Given the description of an element on the screen output the (x, y) to click on. 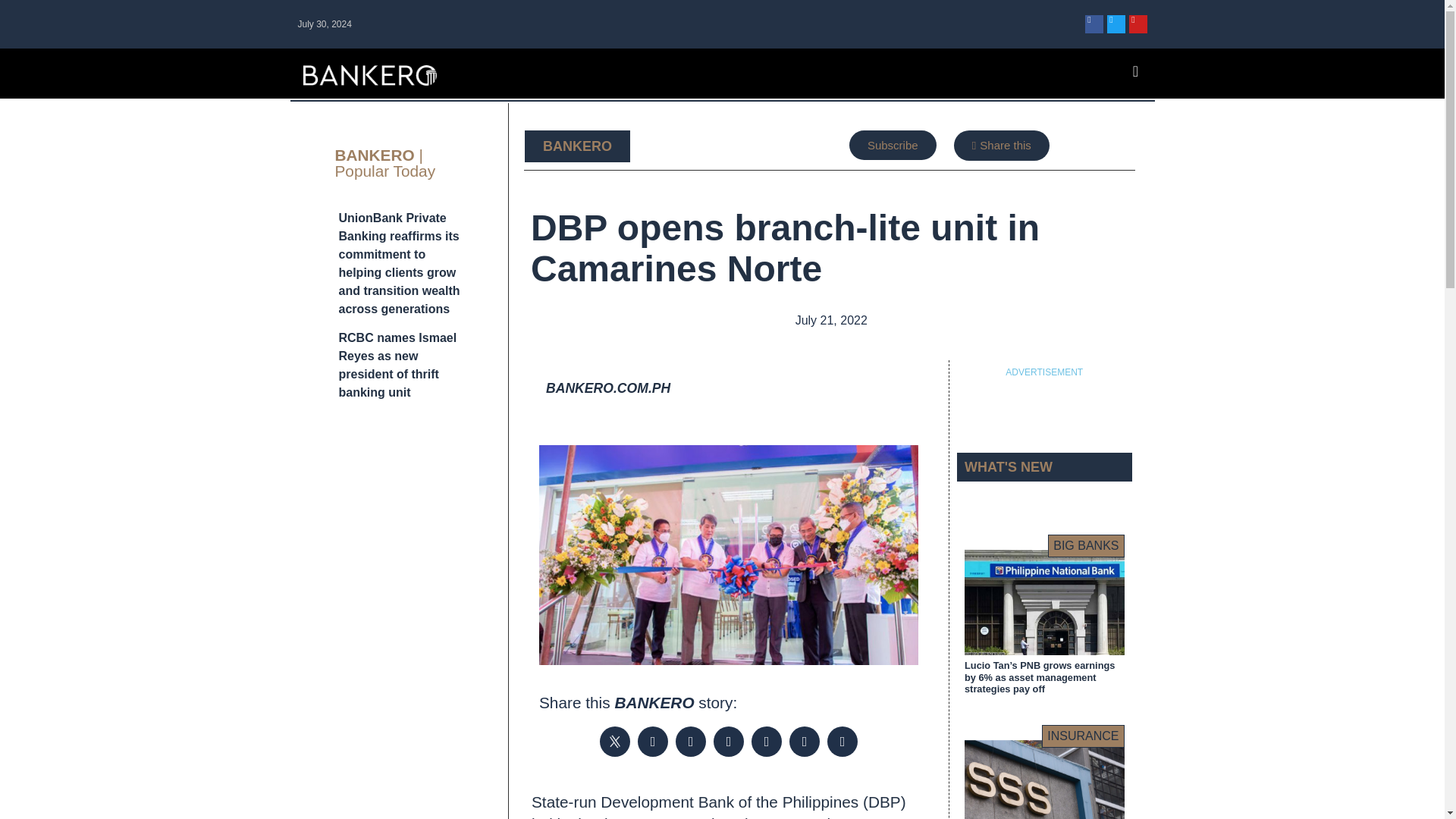
Share this (1001, 145)
BIG BANKS (1086, 545)
INSURANCE (1083, 735)
BANKERO.COM.PH (607, 387)
BANKERO (577, 146)
Subscribe (892, 144)
July 21, 2022 (829, 321)
